Given the description of an element on the screen output the (x, y) to click on. 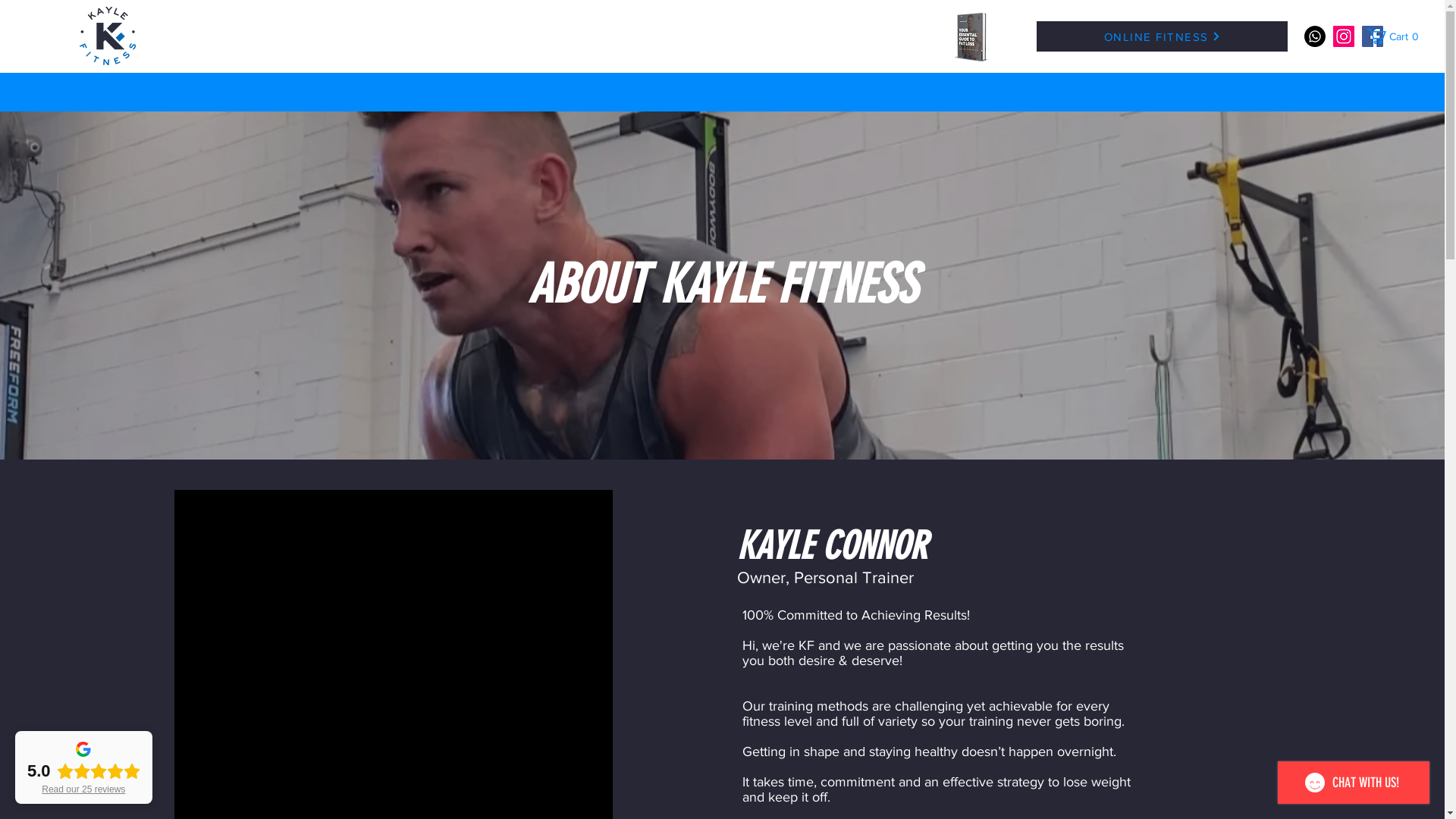
Cart
0 Element type: text (1395, 35)
ONLINE FITNESS Element type: text (1161, 36)
